Given the description of an element on the screen output the (x, y) to click on. 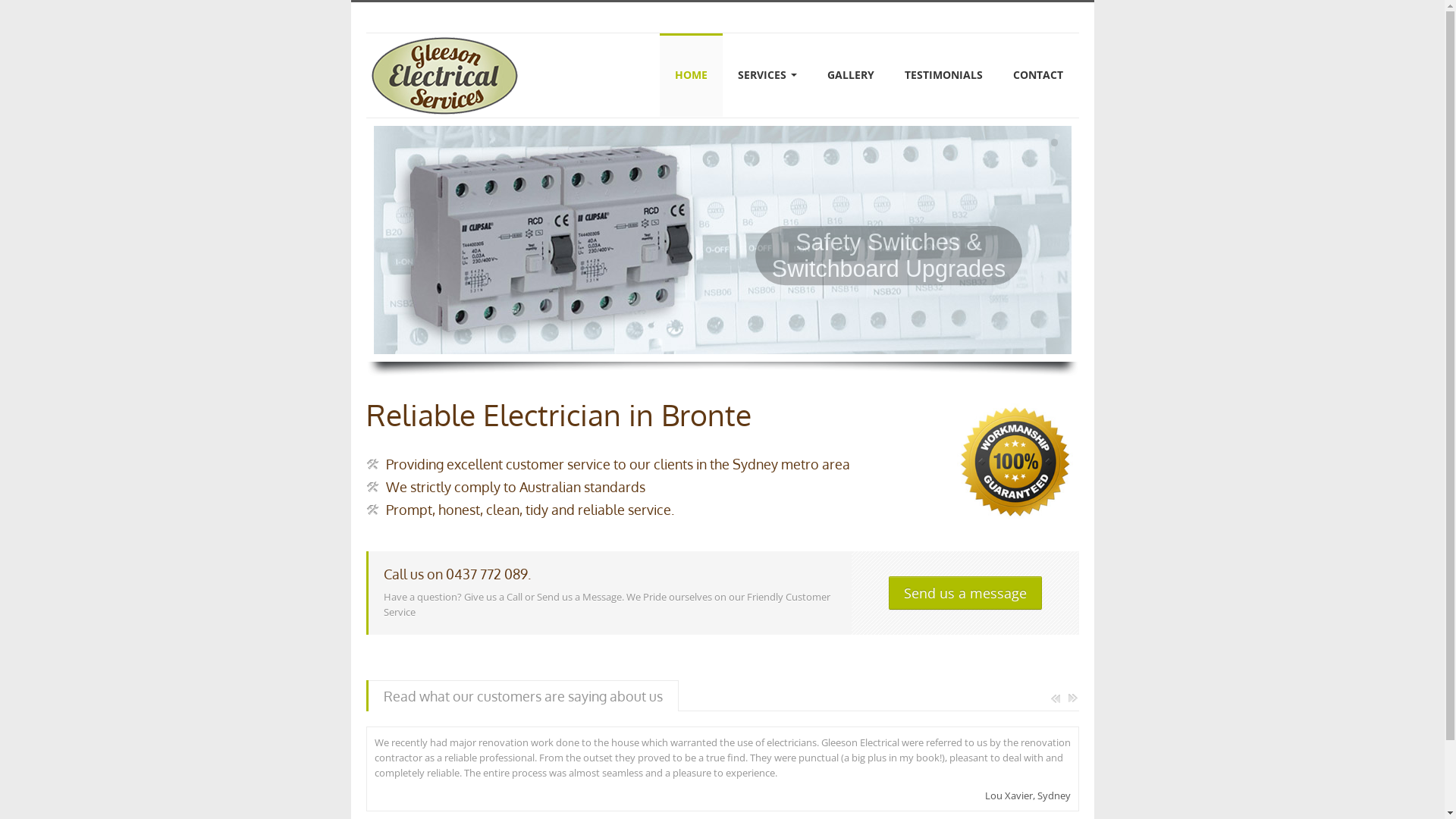
GALLERY Element type: text (850, 74)
SERVICES Element type: text (767, 74)
HOME Element type: text (690, 74)
Send us a message Element type: text (964, 592)
TESTIMONIALS Element type: text (943, 74)
CONTACT Element type: text (1037, 74)
